Given the description of an element on the screen output the (x, y) to click on. 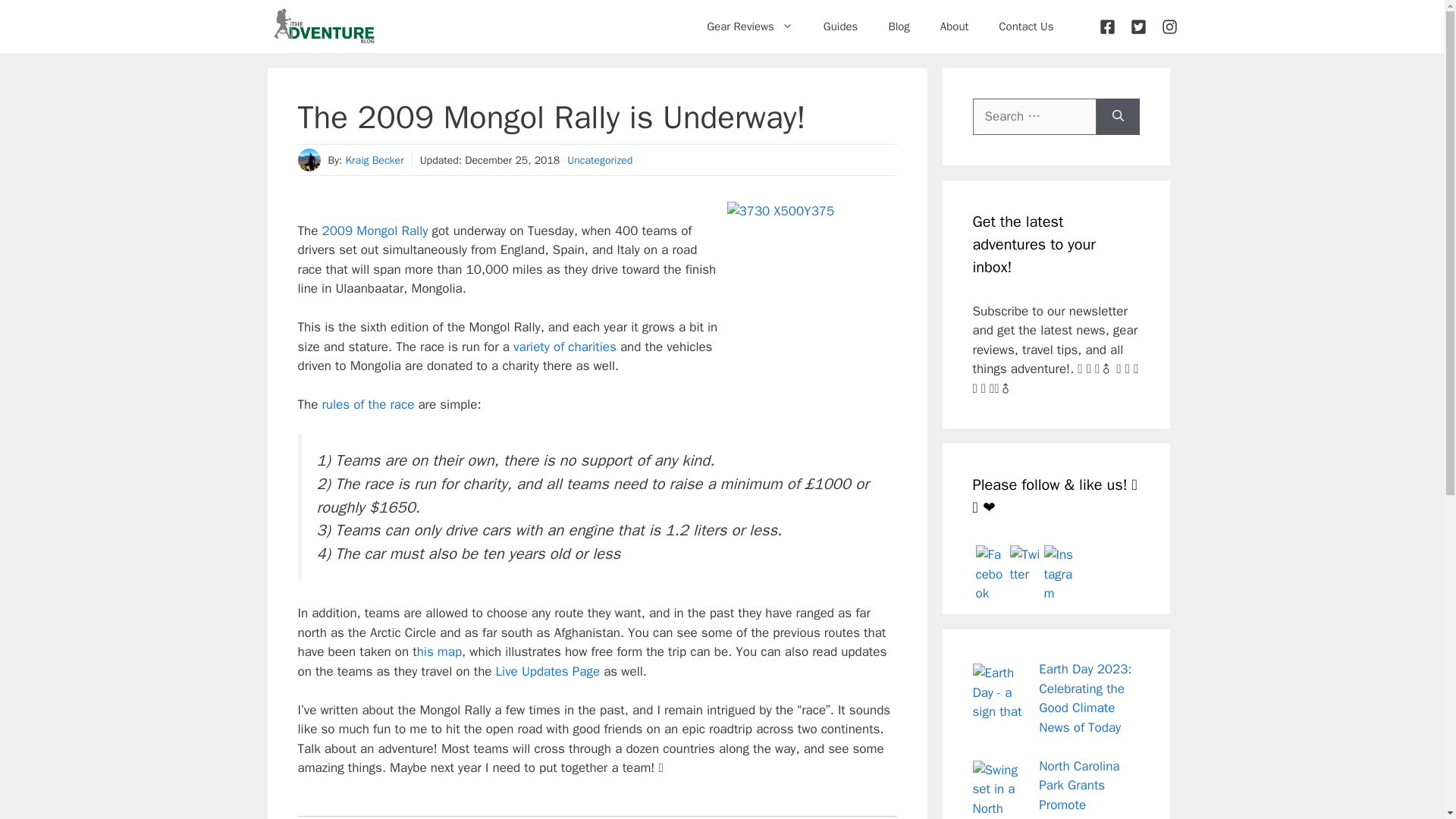
Uncategorized (599, 160)
Search for: (1034, 116)
his map (438, 651)
Contact Us (1026, 26)
variety of charities (564, 346)
Gear Reviews (749, 26)
Kraig Becker (374, 160)
About (954, 26)
The Adventure Blog (323, 26)
Live Updates Page (547, 671)
Guides (840, 26)
rules of the race (367, 404)
2009 Mongol Rally (374, 230)
Blog (898, 26)
